Given the description of an element on the screen output the (x, y) to click on. 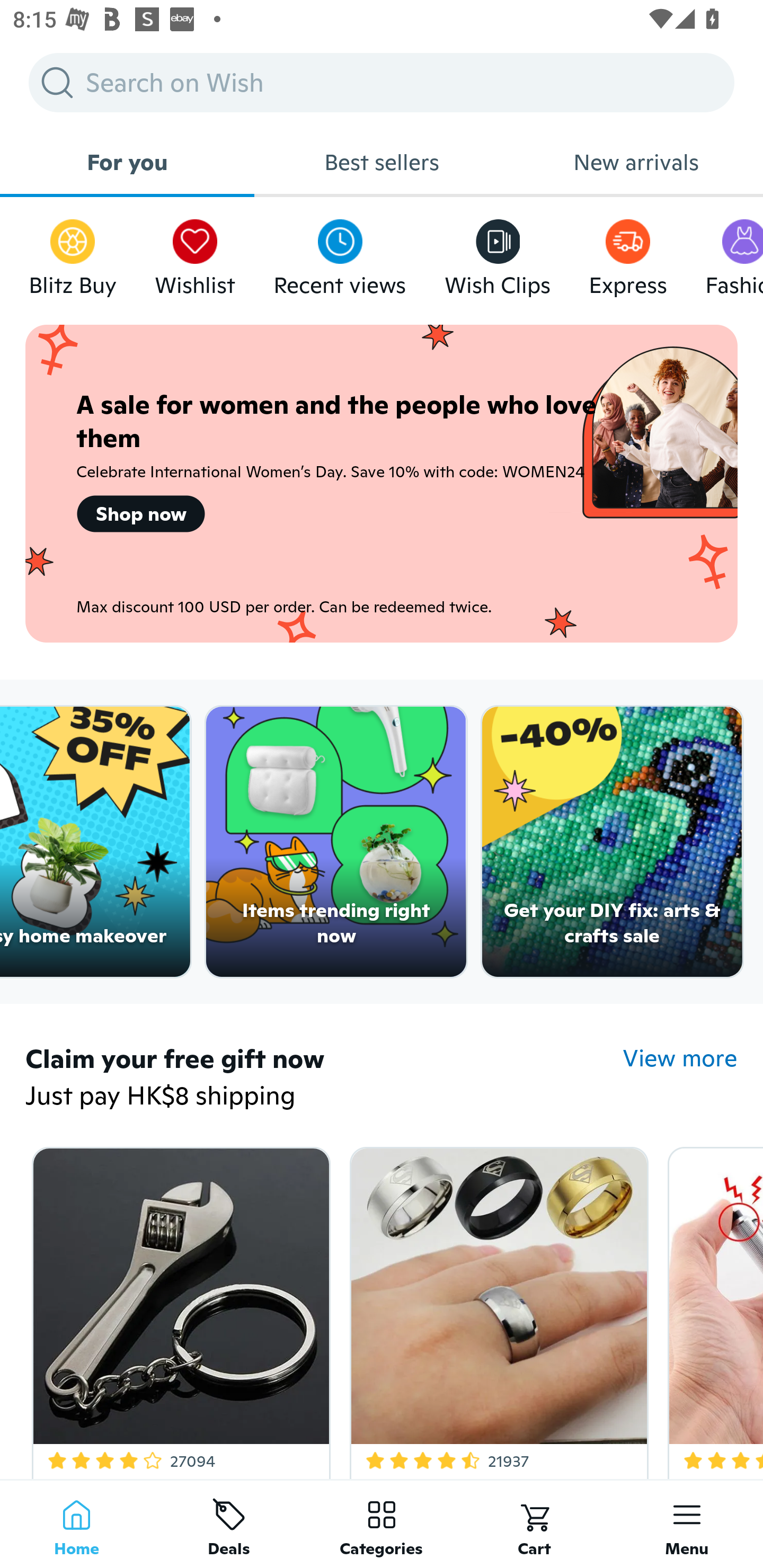
Search on Wish (381, 82)
For you (127, 161)
Best sellers (381, 161)
New arrivals (635, 161)
Blitz Buy (72, 252)
Wishlist (194, 252)
Recent views (339, 252)
Wish Clips (497, 252)
Express (627, 252)
Fashion (734, 252)
Messy home makeover (94, 841)
Items trending right now (336, 841)
Get your DIY fix: arts & crafts sale (612, 841)
Claim your free gift now
Just pay HK$8 shipping (323, 1078)
View more (679, 1058)
4 Star Rating 27094 Free (177, 1308)
4.3 Star Rating 21937 Free (495, 1308)
Home (76, 1523)
Deals (228, 1523)
Categories (381, 1523)
Cart (533, 1523)
Menu (686, 1523)
